Given the description of an element on the screen output the (x, y) to click on. 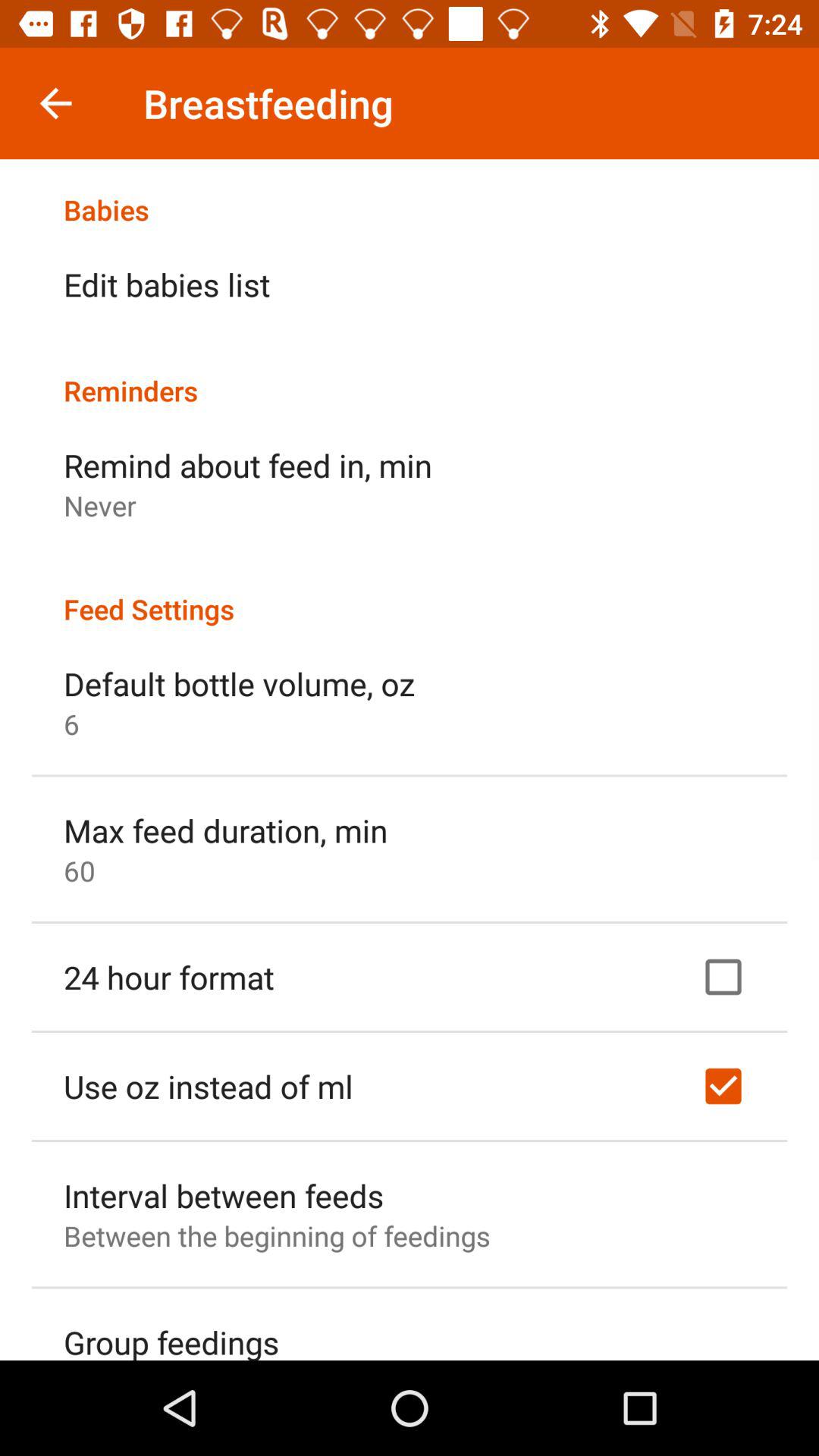
launch max feed duration (225, 829)
